Given the description of an element on the screen output the (x, y) to click on. 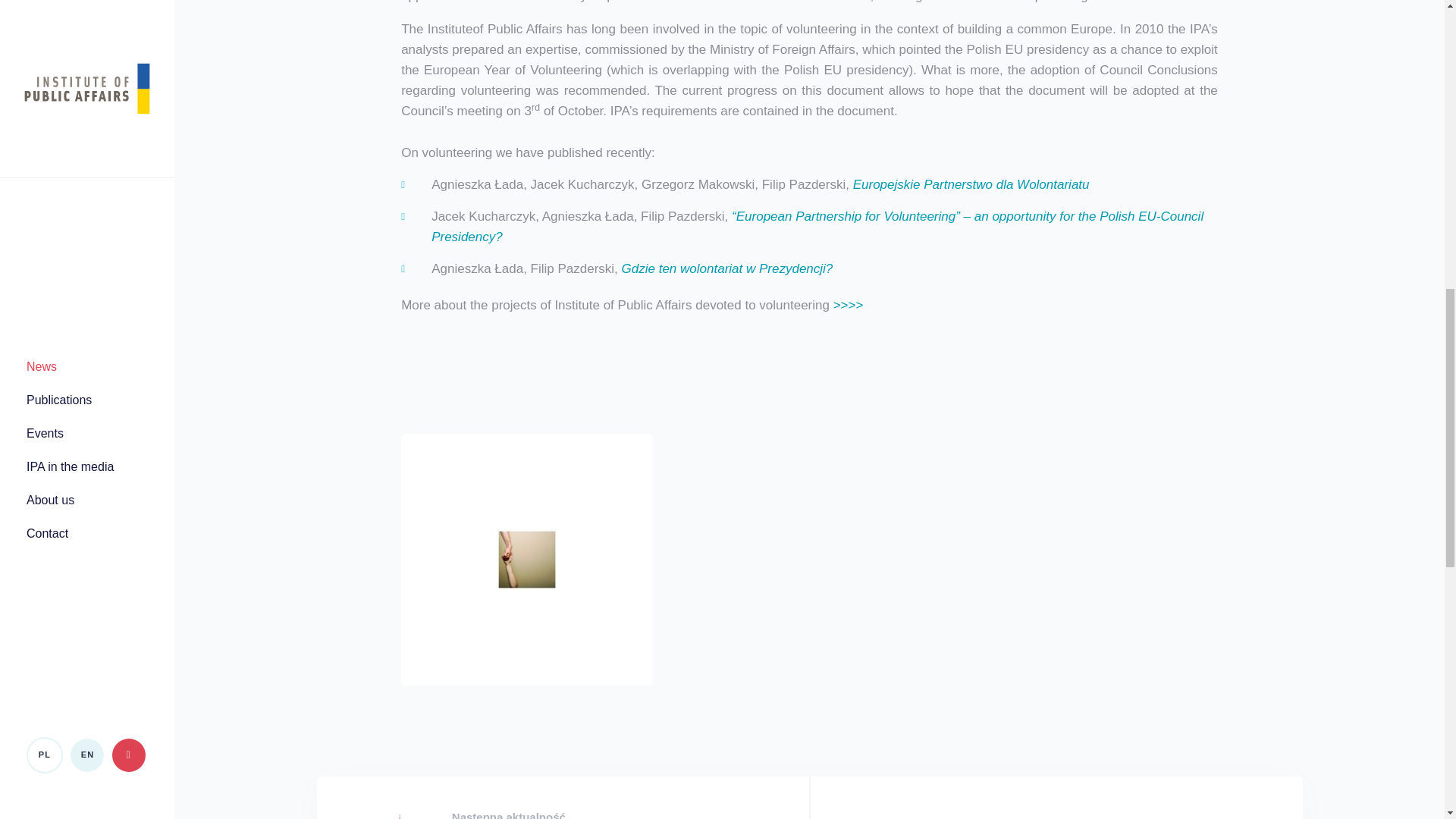
Gdzie ten wolontariat w Prezydencji? (726, 268)
Europejskie Partnerstwo dla Wolontariatu (971, 184)
